Given the description of an element on the screen output the (x, y) to click on. 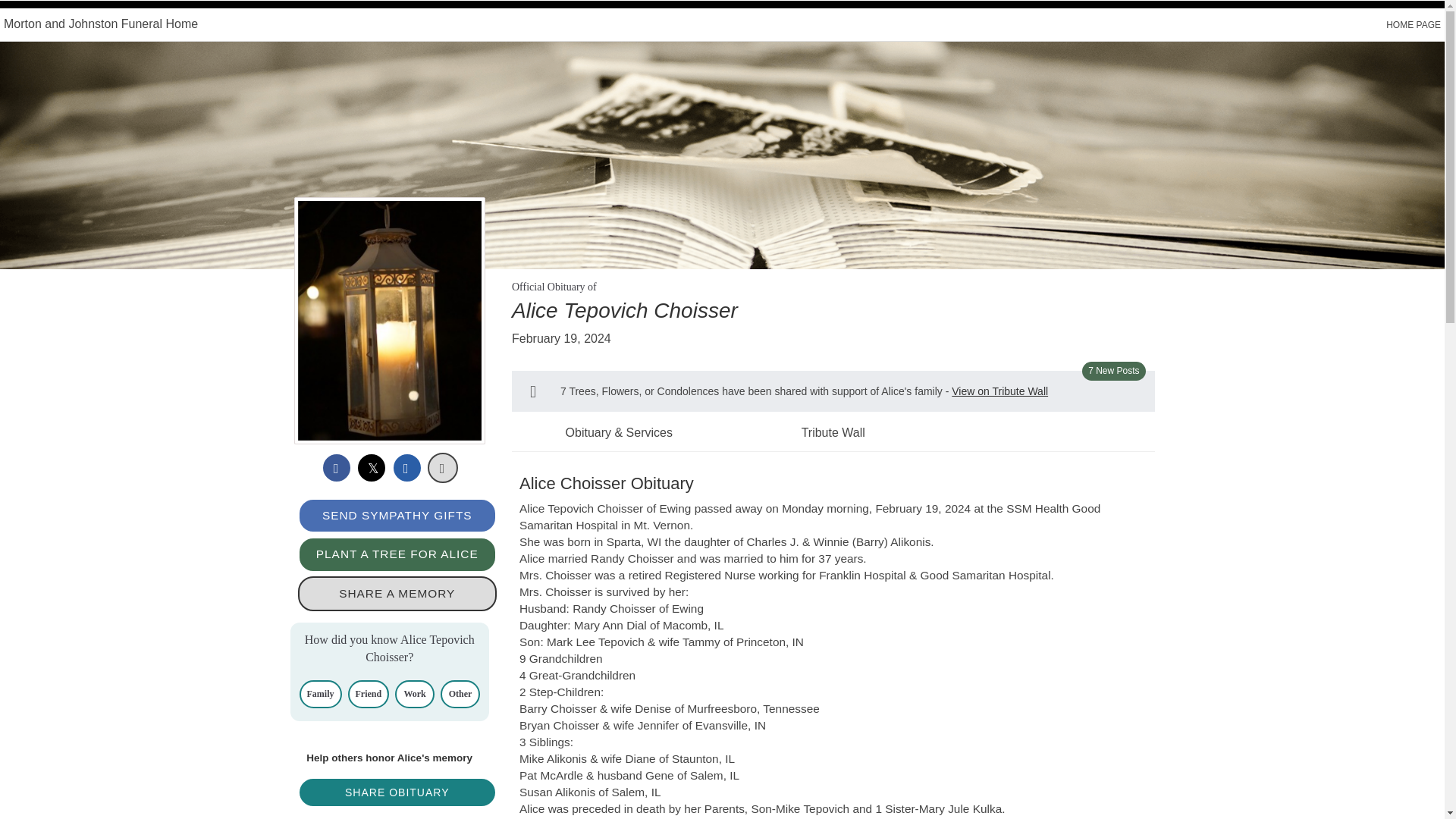
PLANT A TREE FOR ALICE (396, 554)
HOME PAGE (1413, 24)
SHARE OBITUARY (396, 792)
Share on X (371, 467)
Printable copy (443, 467)
Share via email (406, 467)
View on Tribute Wall (1000, 390)
Morton and Johnston Funeral Home (101, 23)
SHARE A MEMORY (396, 593)
Share to Facebook (336, 467)
SEND SYMPATHY GIFTS (396, 515)
